Given the description of an element on the screen output the (x, y) to click on. 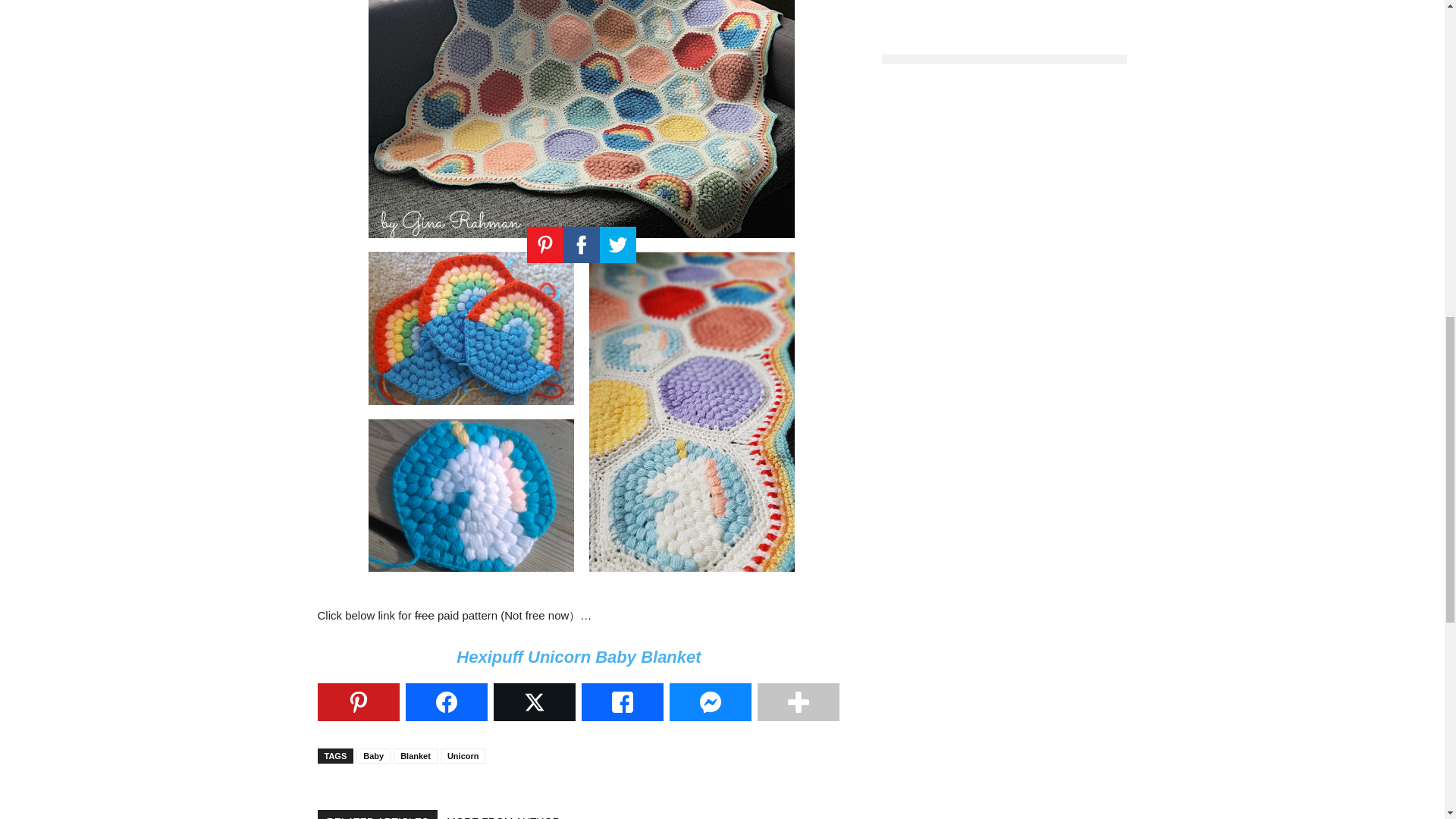
Share on Like (621, 702)
bottomFacebookLike (430, 797)
Share on Pinterest (357, 702)
Share on More Button (797, 702)
Share on Twitter (534, 702)
Share on Facebook Messenger (709, 702)
Share on Facebook (445, 702)
